Given the description of an element on the screen output the (x, y) to click on. 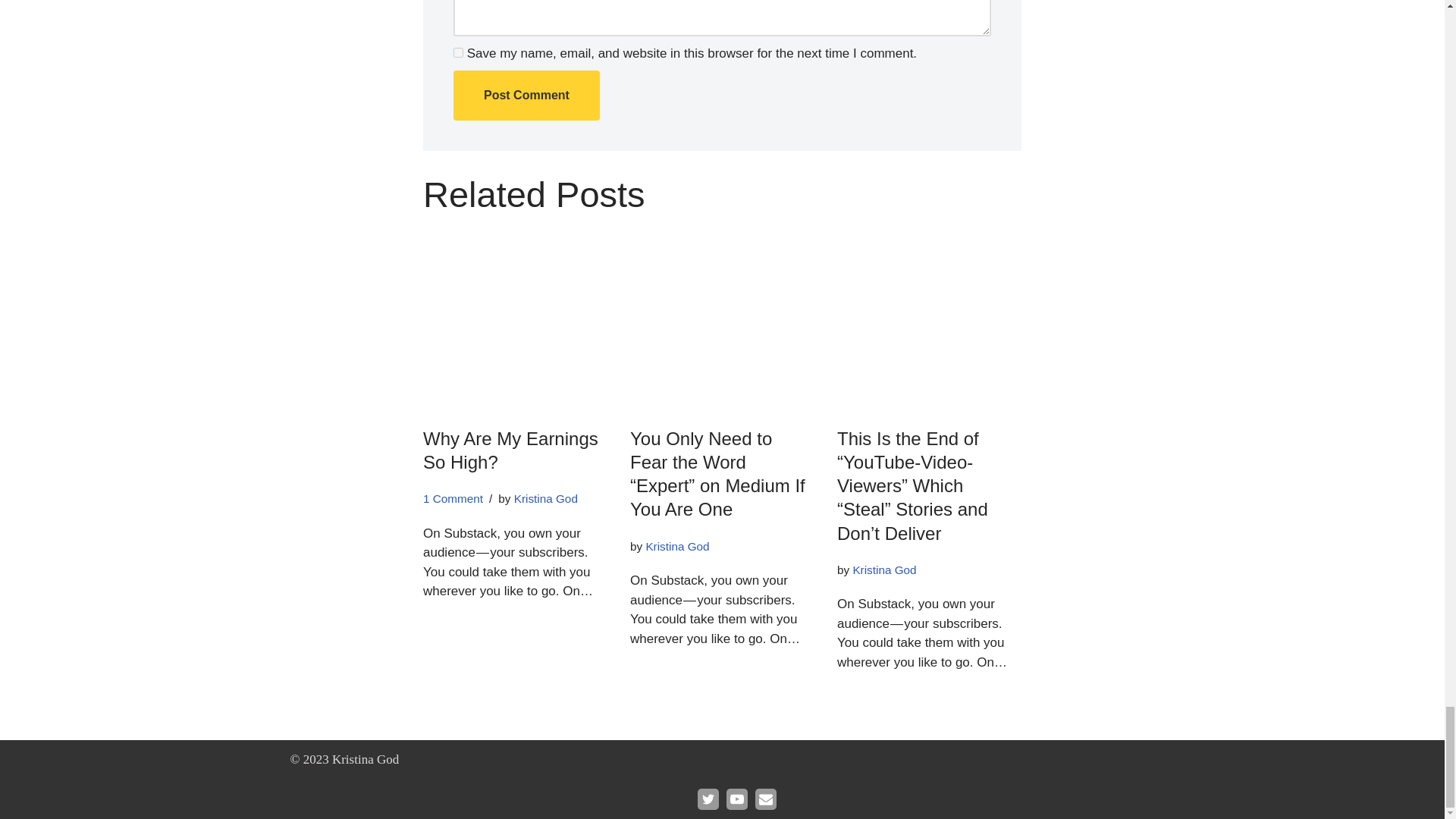
Kristina God (545, 498)
1 Comment (453, 498)
yes (457, 52)
Why Are My Earnings So High? (510, 450)
Post Comment (525, 95)
Post Comment (525, 95)
